Given the description of an element on the screen output the (x, y) to click on. 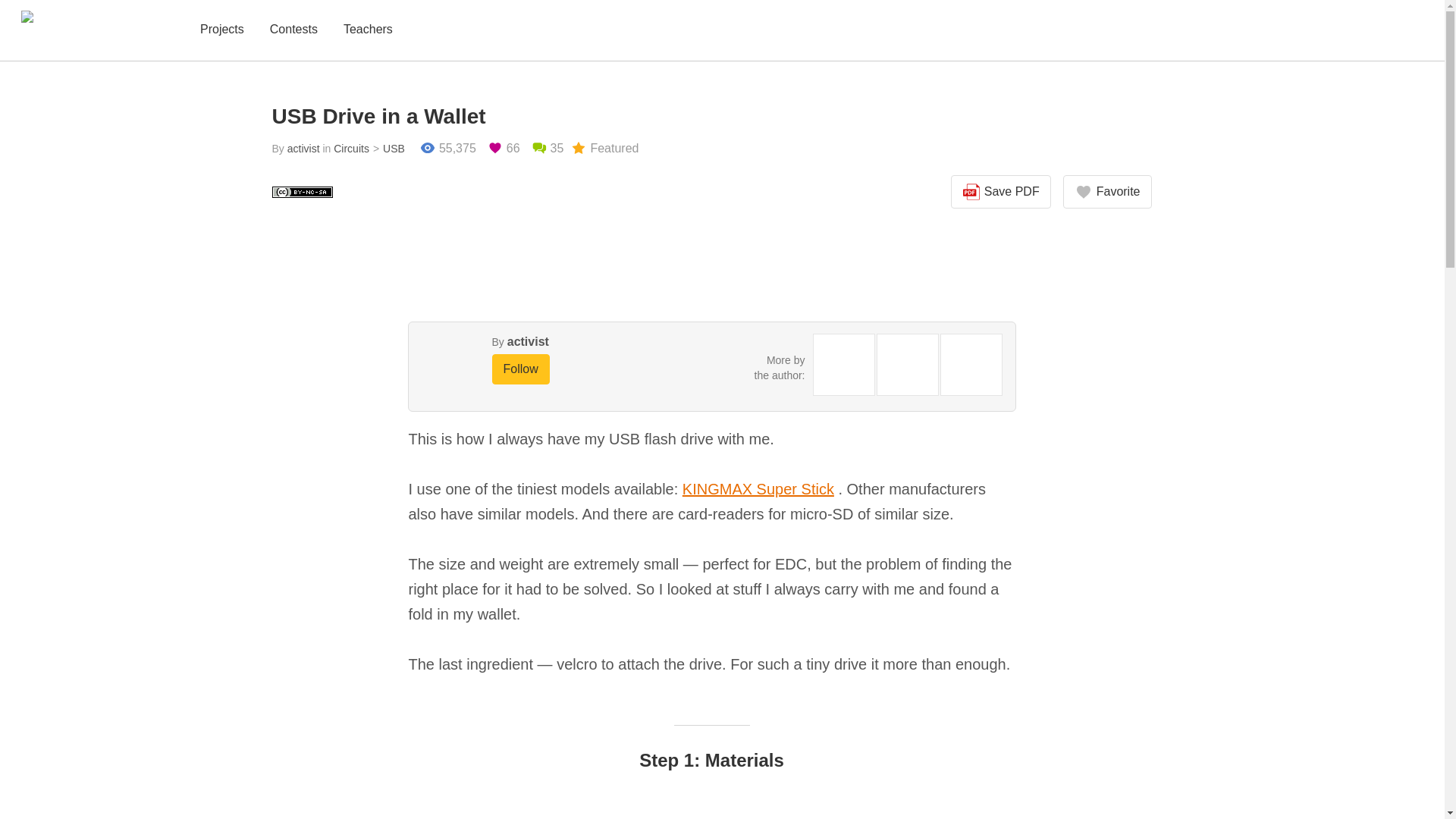
35 (547, 148)
KINGMAX Super Stick (758, 488)
activist (303, 148)
Projects (221, 30)
Contests (293, 30)
Circuits (351, 148)
activist (527, 341)
USB (386, 148)
Follow (520, 368)
Save PDF (1000, 191)
Teachers (368, 30)
More by the author: (779, 366)
Favorite (1106, 191)
